Given the description of an element on the screen output the (x, y) to click on. 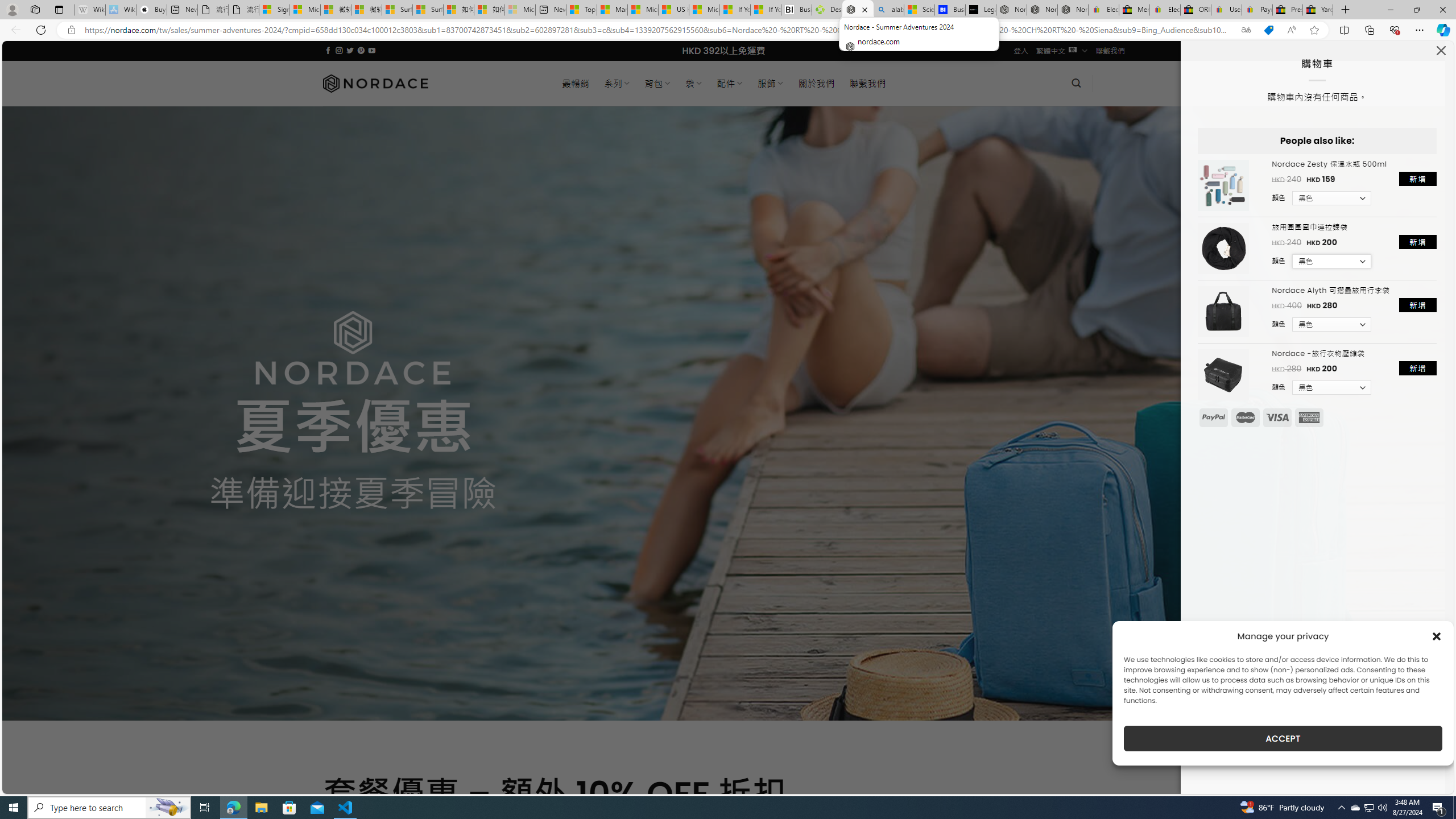
Class: cmplz-close (1436, 636)
User Privacy Notice | eBay (1226, 9)
Press Room - eBay Inc. (1287, 9)
 0  (1110, 83)
Follow on Facebook (327, 50)
Buy iPad - Apple (151, 9)
